Given the description of an element on the screen output the (x, y) to click on. 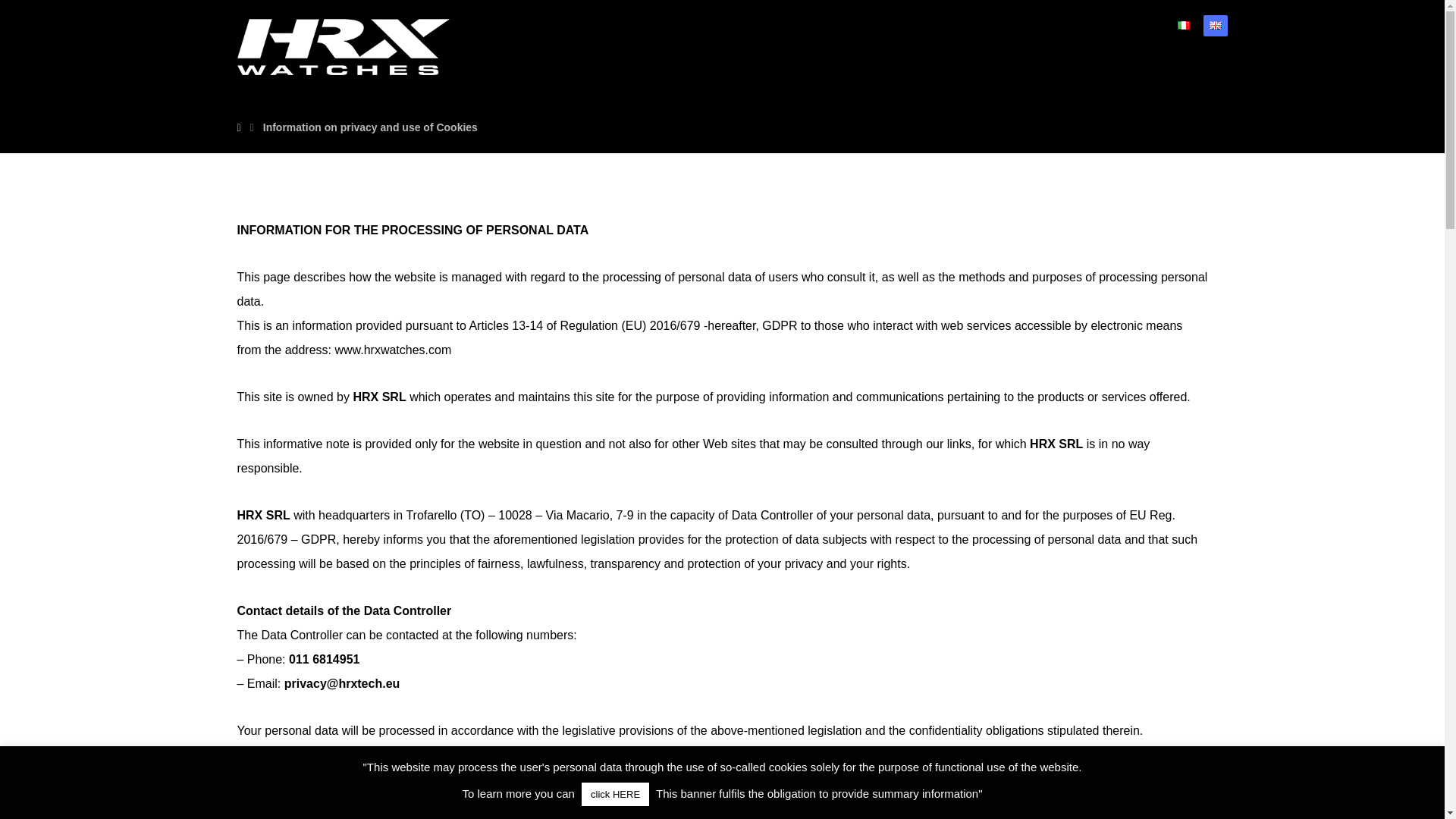
click HERE (614, 793)
Information on privacy and use of Cookies (370, 127)
